Given the description of an element on the screen output the (x, y) to click on. 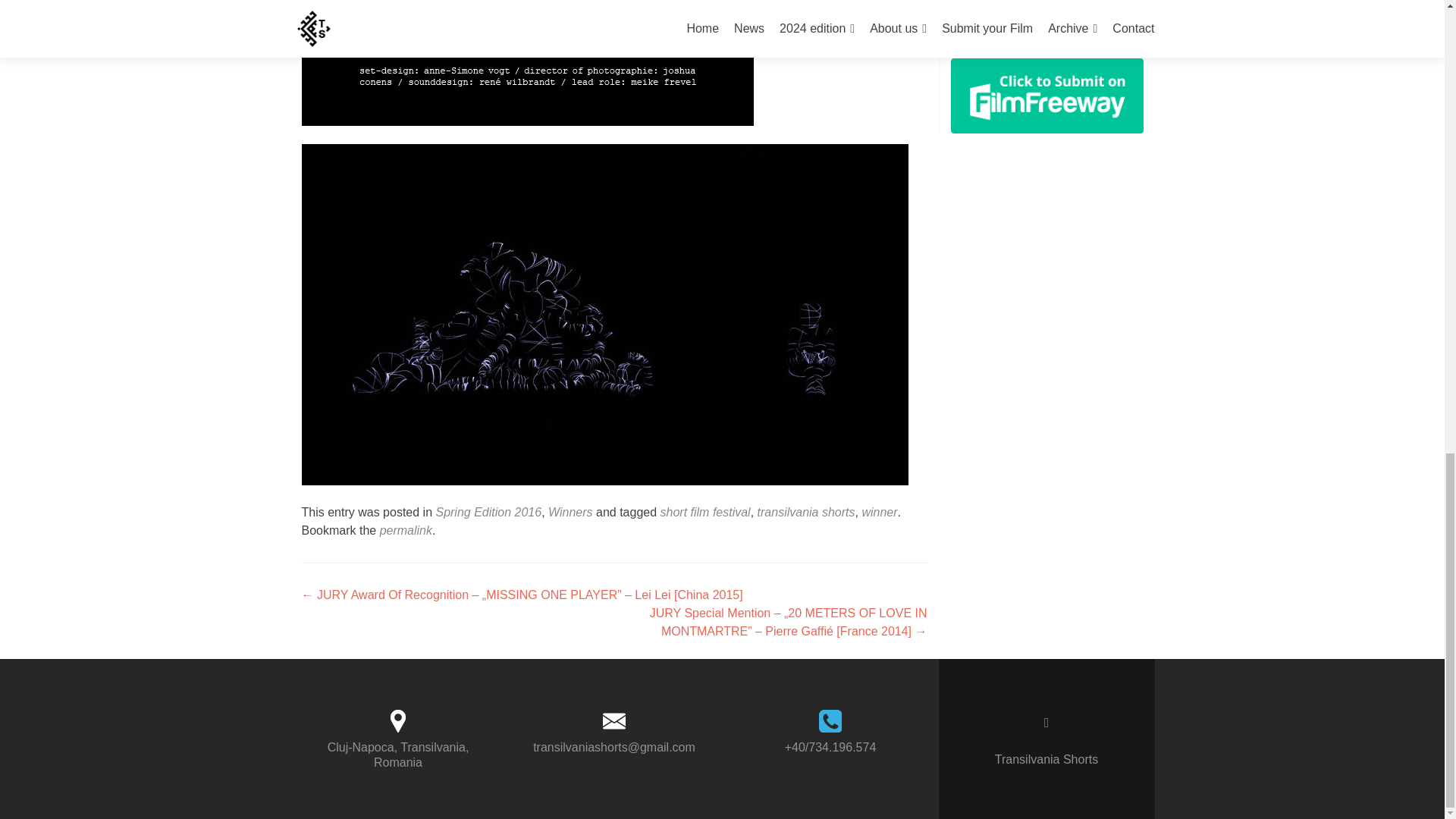
Click to submit with FilmFreeway (1046, 93)
Click to submit with FilmFreeway (1046, 95)
